Given the description of an element on the screen output the (x, y) to click on. 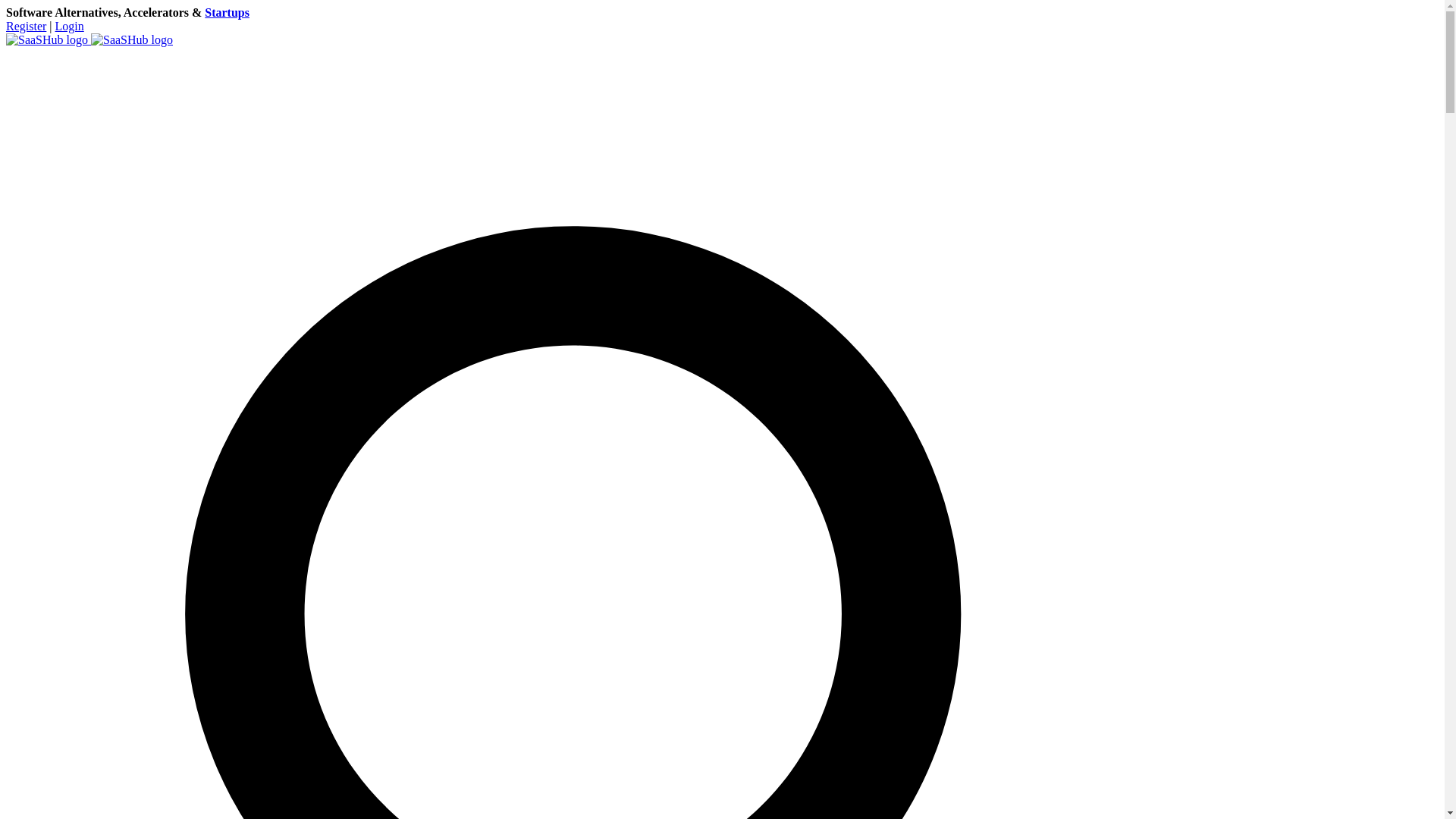
Startups (226, 11)
Register (25, 25)
Login (69, 25)
